Given the description of an element on the screen output the (x, y) to click on. 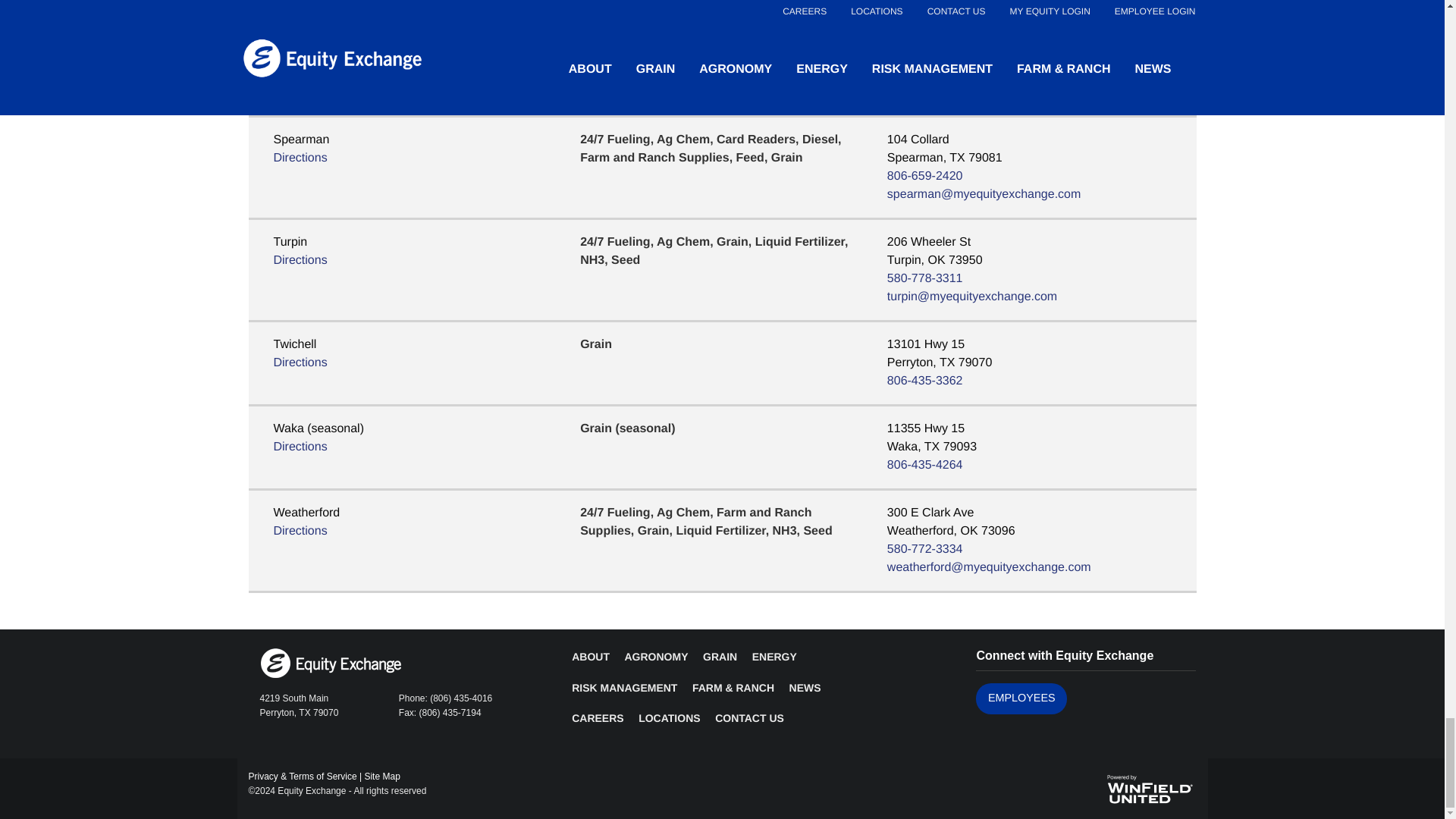
energy (774, 656)
farm-ranch (733, 687)
about (591, 656)
risk-management (624, 687)
agronomy (655, 656)
grain (719, 656)
